Given the description of an element on the screen output the (x, y) to click on. 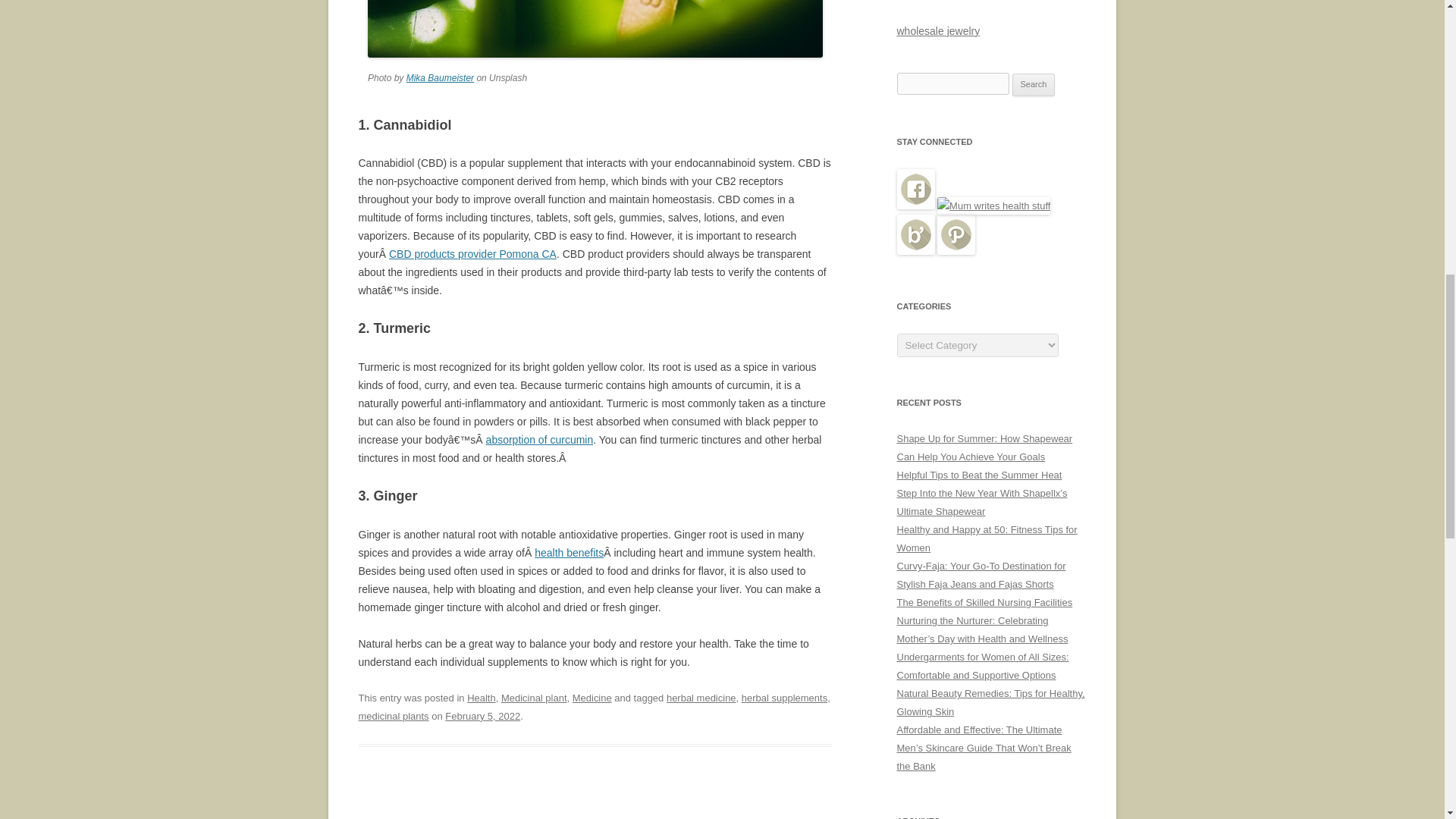
herbal medicine (701, 697)
The Benefits of Skilled Nursing Facilities (983, 602)
herbal supplements (784, 697)
health benefits (569, 552)
Healthy and Happy at 50: Fitness Tips for Women (986, 538)
February 5, 2022 (482, 715)
absorption of curcumin (540, 439)
Medicinal plant (533, 697)
Mika Baumeister (440, 77)
